Given the description of an element on the screen output the (x, y) to click on. 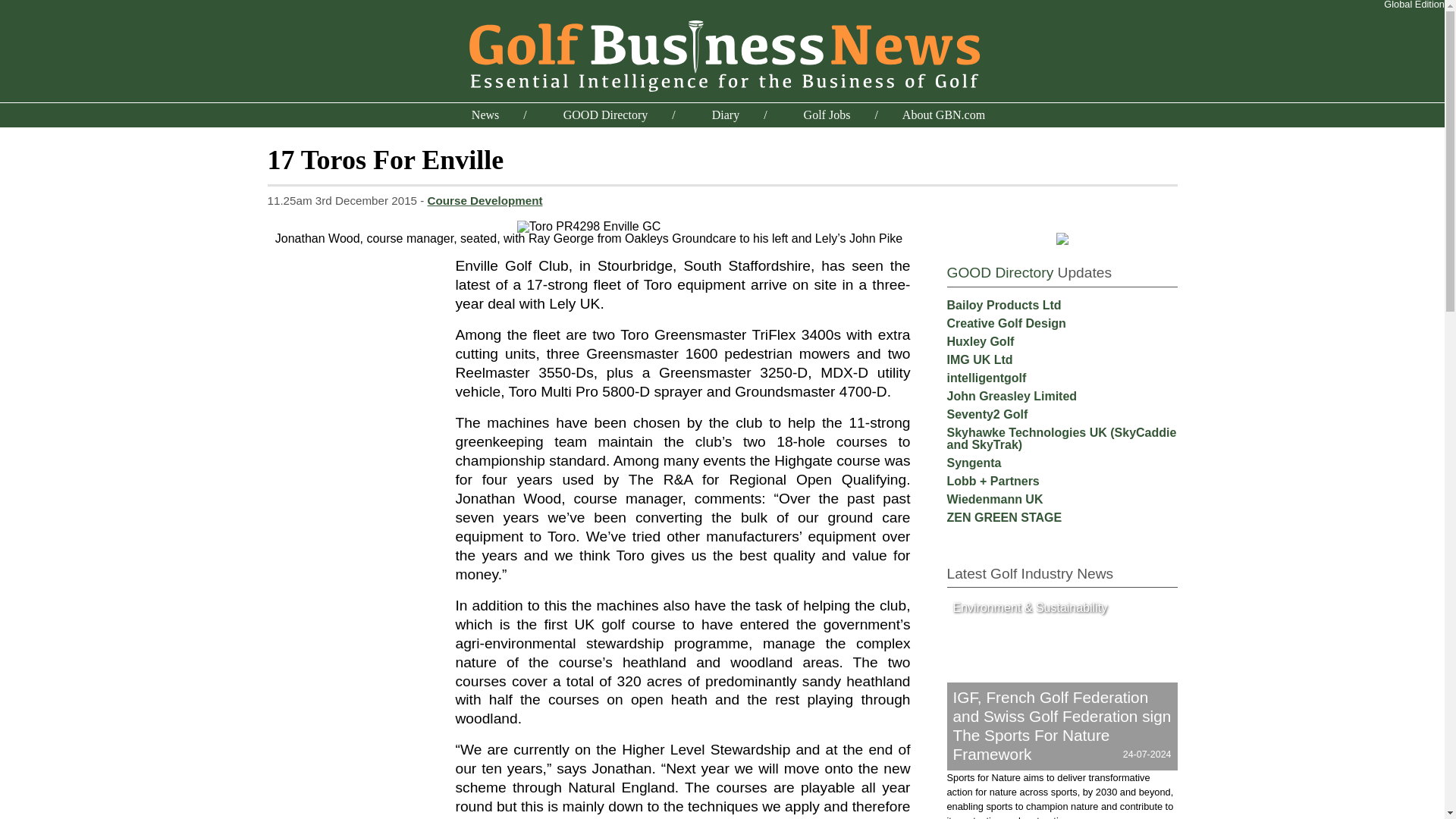
GOOD Directory (999, 272)
ZEN GREEN STAGE (1003, 517)
Wiedenmann UK (994, 499)
John Greasley Limited (1011, 395)
GBN Home (722, 52)
Syngenta (973, 462)
Course Development (485, 200)
News (485, 114)
About GBN.com (943, 114)
Diary (725, 114)
intelligentgolf (986, 377)
Seventy2 Golf (986, 413)
Conferences and exhibitions across the golfing world (725, 114)
Golf Jobs (826, 114)
